Given the description of an element on the screen output the (x, y) to click on. 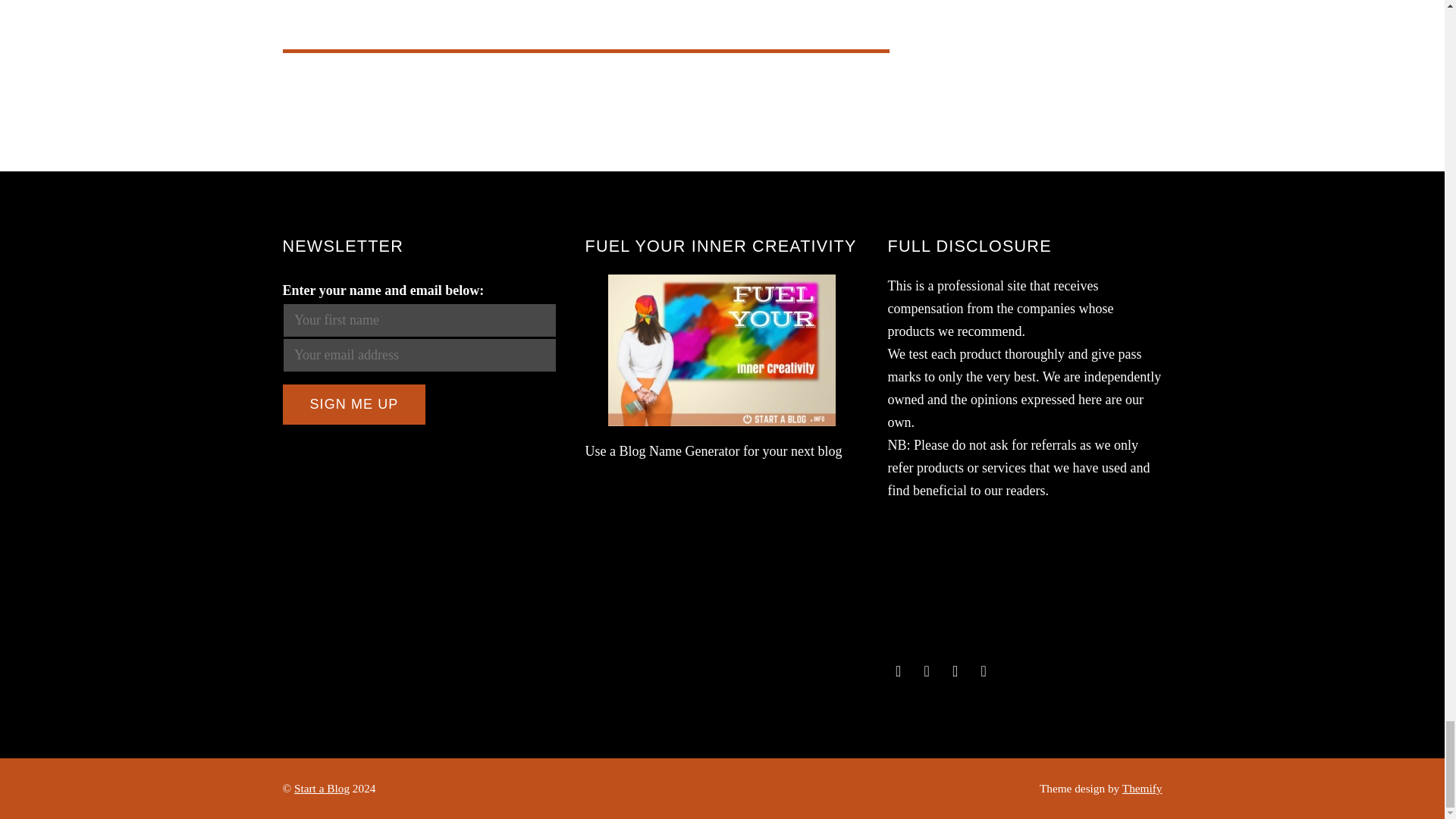
Sign me up (353, 404)
Creative Blog Name Generator (722, 349)
